Given the description of an element on the screen output the (x, y) to click on. 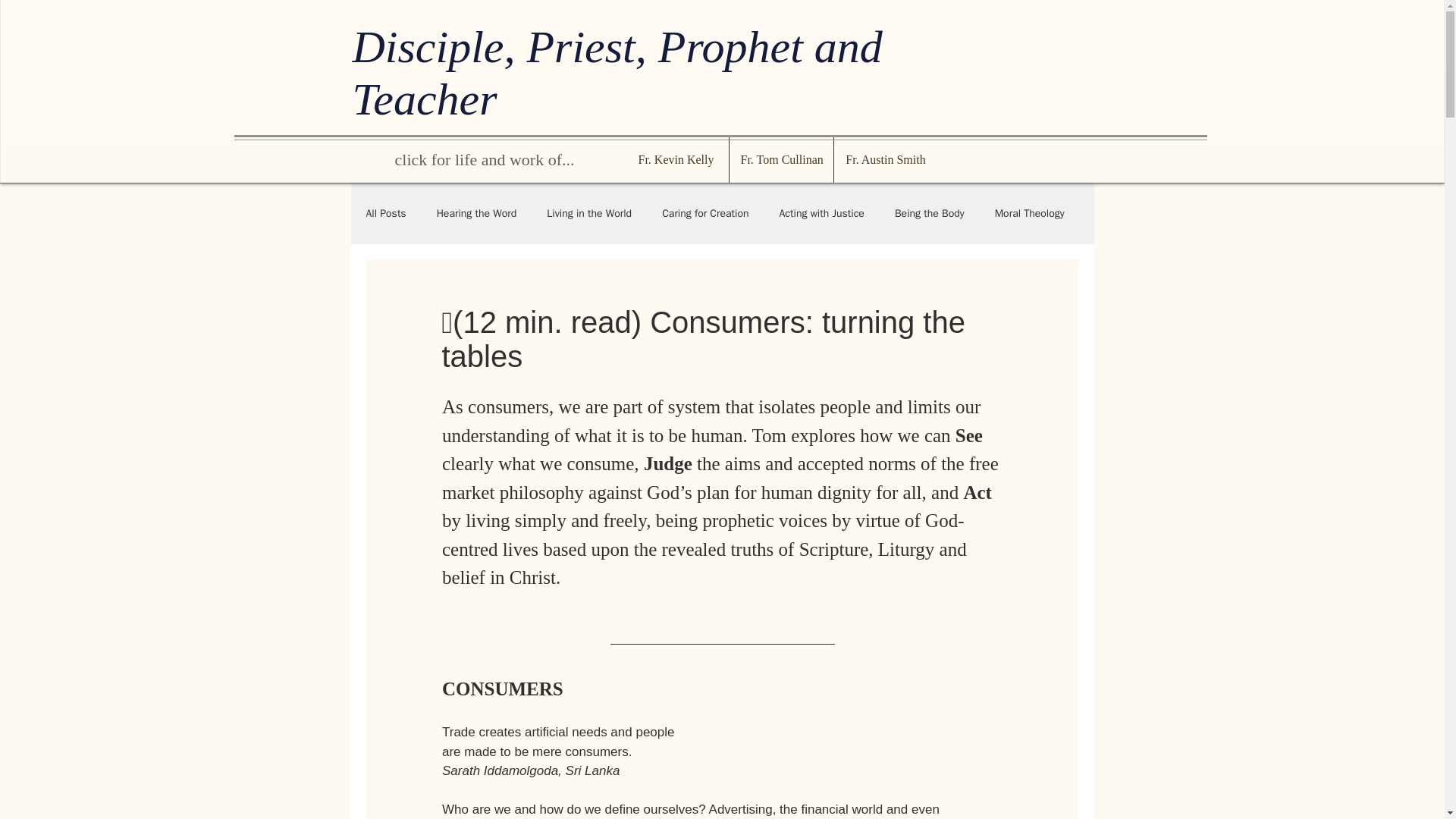
Living in the World (589, 213)
Fr. Kevin Kelly (675, 159)
Caring for Creation (705, 213)
All Posts (385, 213)
Disciple, Priest, Prophet  (582, 47)
Fr. Austin Smith (885, 159)
Fr. Tom Cullinan (780, 159)
Hearing the Word (476, 213)
Being the Body (929, 213)
Acting with Justice (821, 213)
and Teacher (617, 73)
Moral Theology (1029, 213)
